Given the description of an element on the screen output the (x, y) to click on. 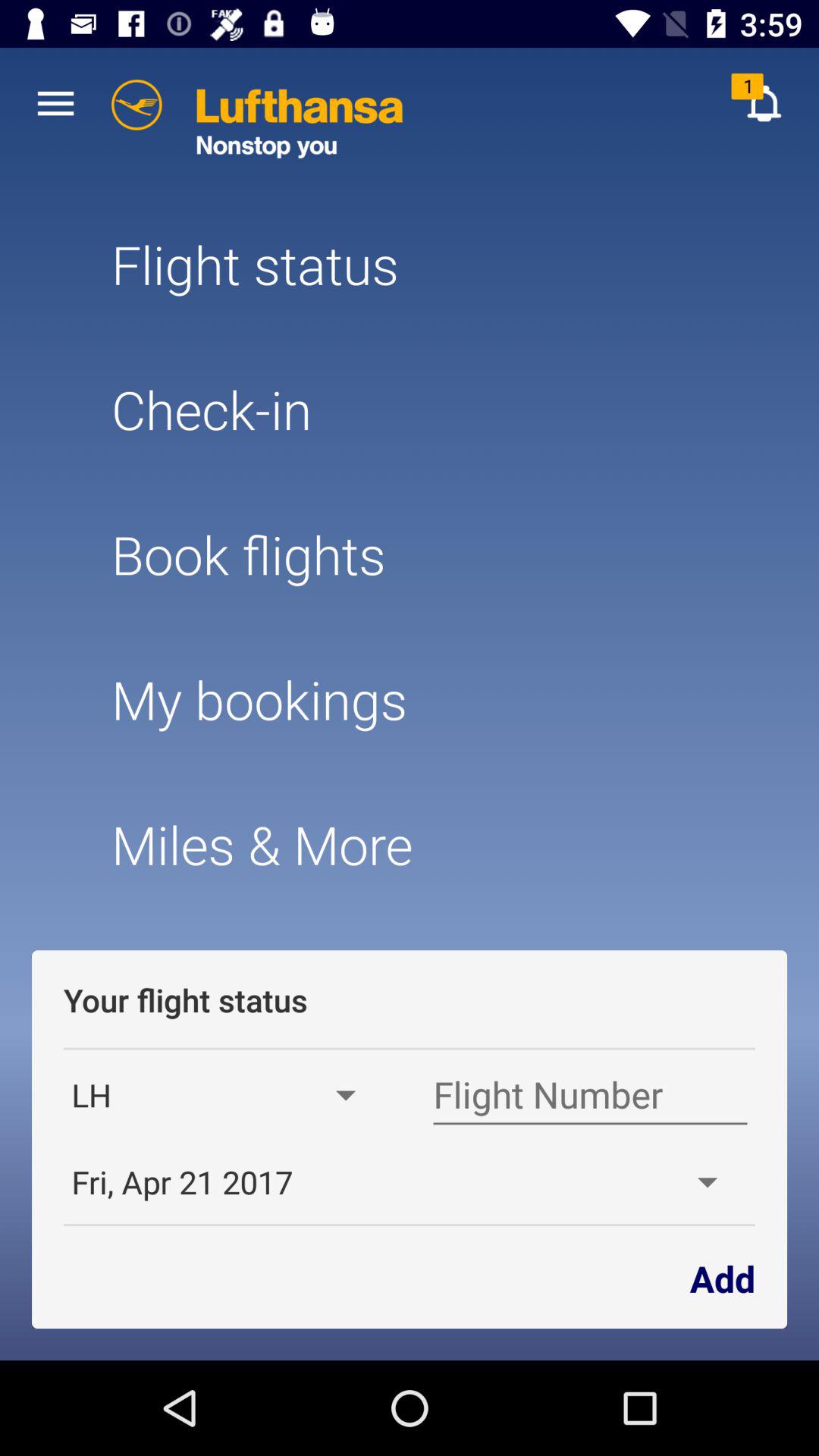
open the icon below my bookings (409, 844)
